Given the description of an element on the screen output the (x, y) to click on. 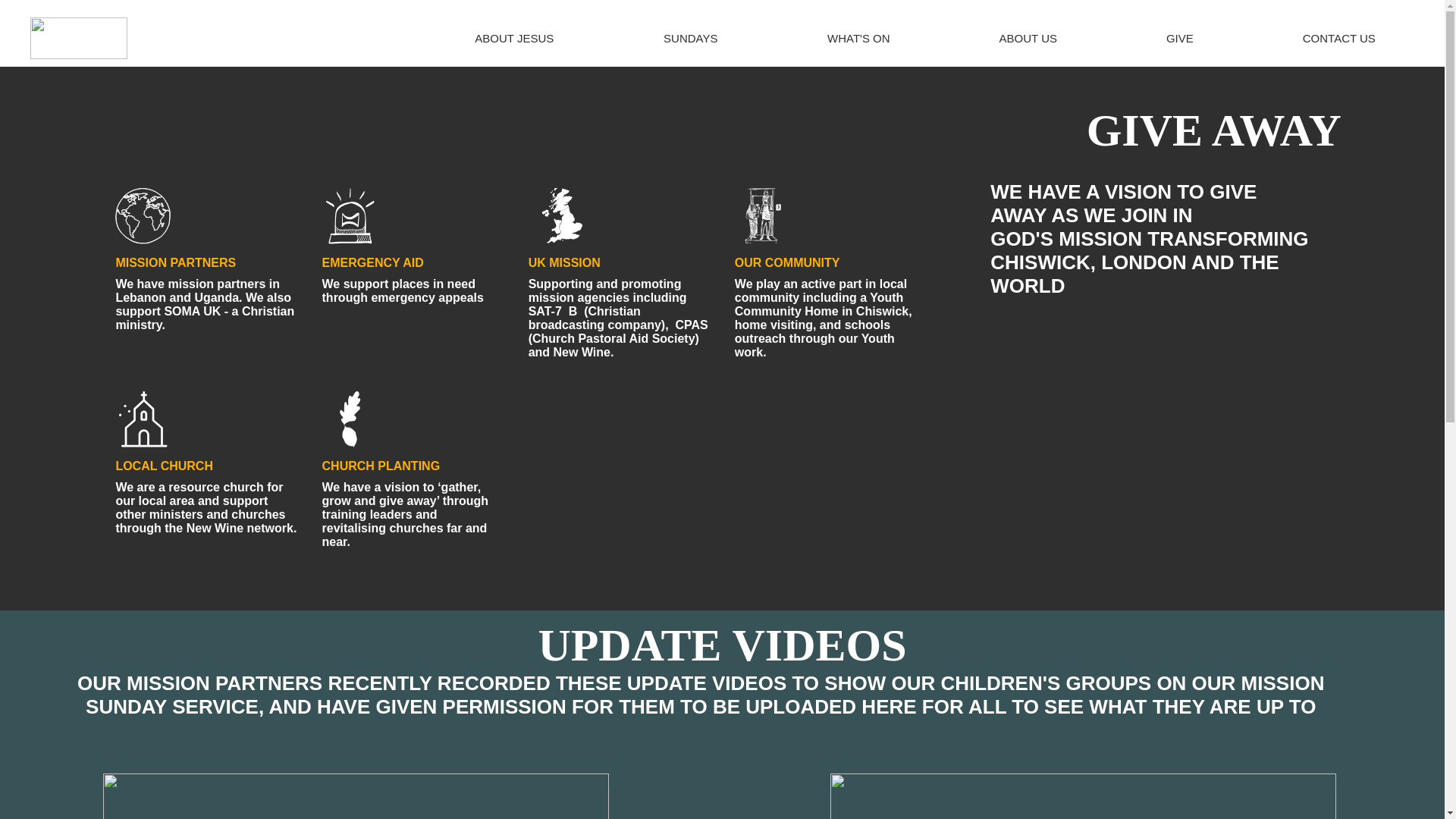
CONTACT US (1338, 38)
GIVE (1178, 38)
WHAT'S ON (857, 38)
SUNDAYS (689, 38)
ABOUT JESUS (514, 38)
ABOUT US (1026, 38)
